Given the description of an element on the screen output the (x, y) to click on. 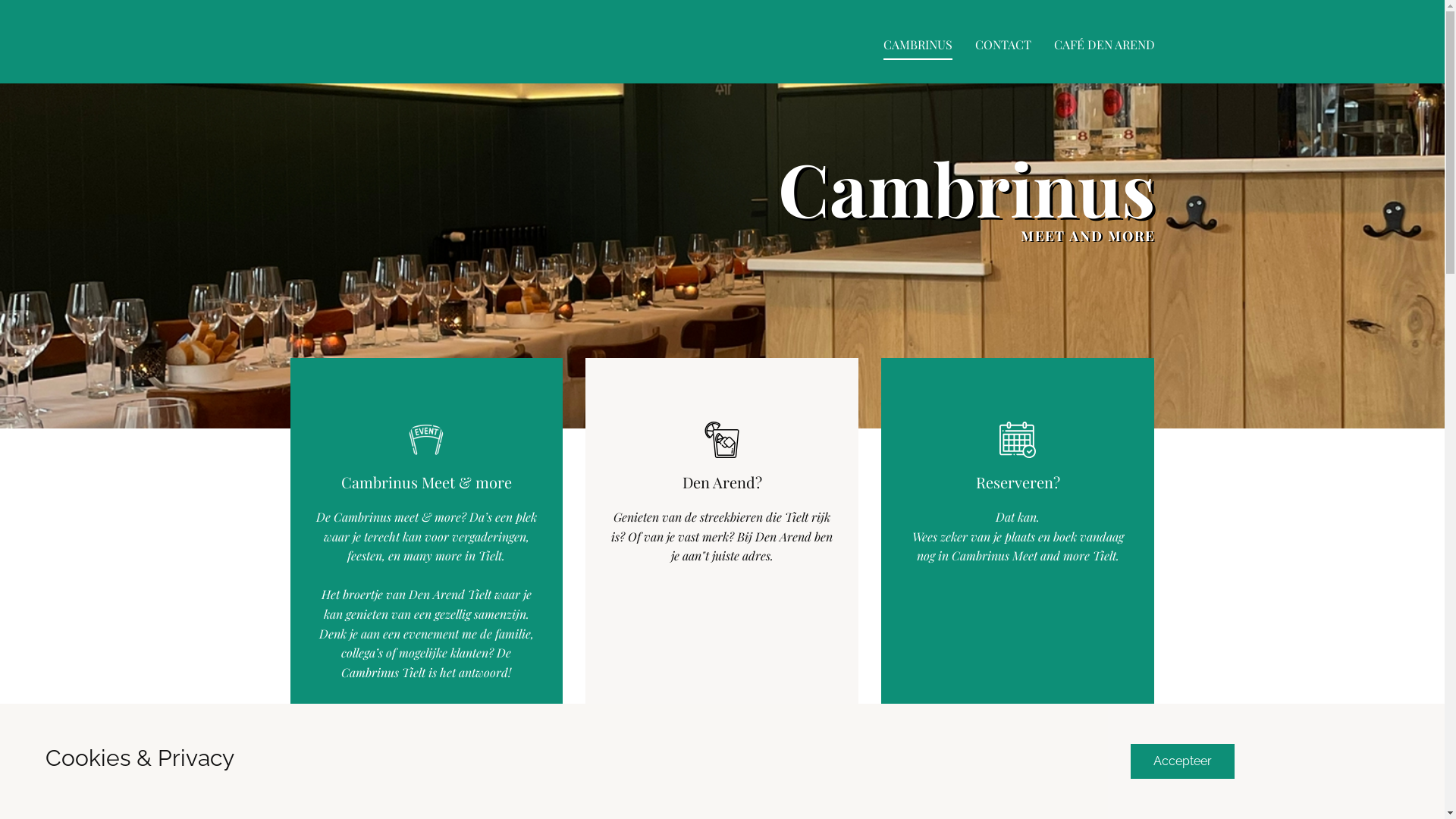
CONTACT Element type: text (1003, 45)
Accepteer Element type: text (1181, 760)
CAMBRINUS Element type: text (916, 45)
